Given the description of an element on the screen output the (x, y) to click on. 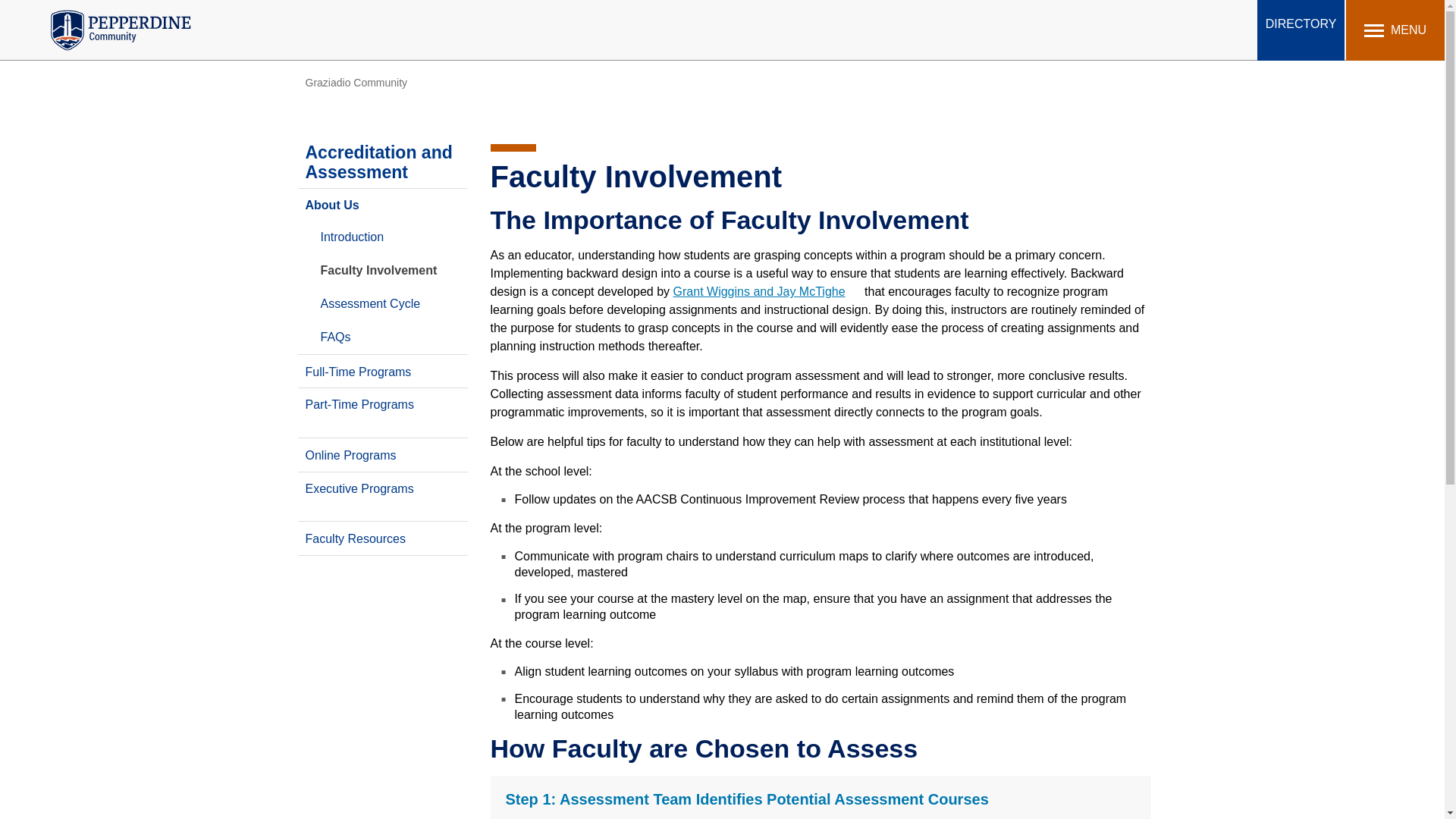
open search (1243, 29)
Submit (502, 19)
DIRECTORY (1300, 30)
Search site (1172, 22)
